Given the description of an element on the screen output the (x, y) to click on. 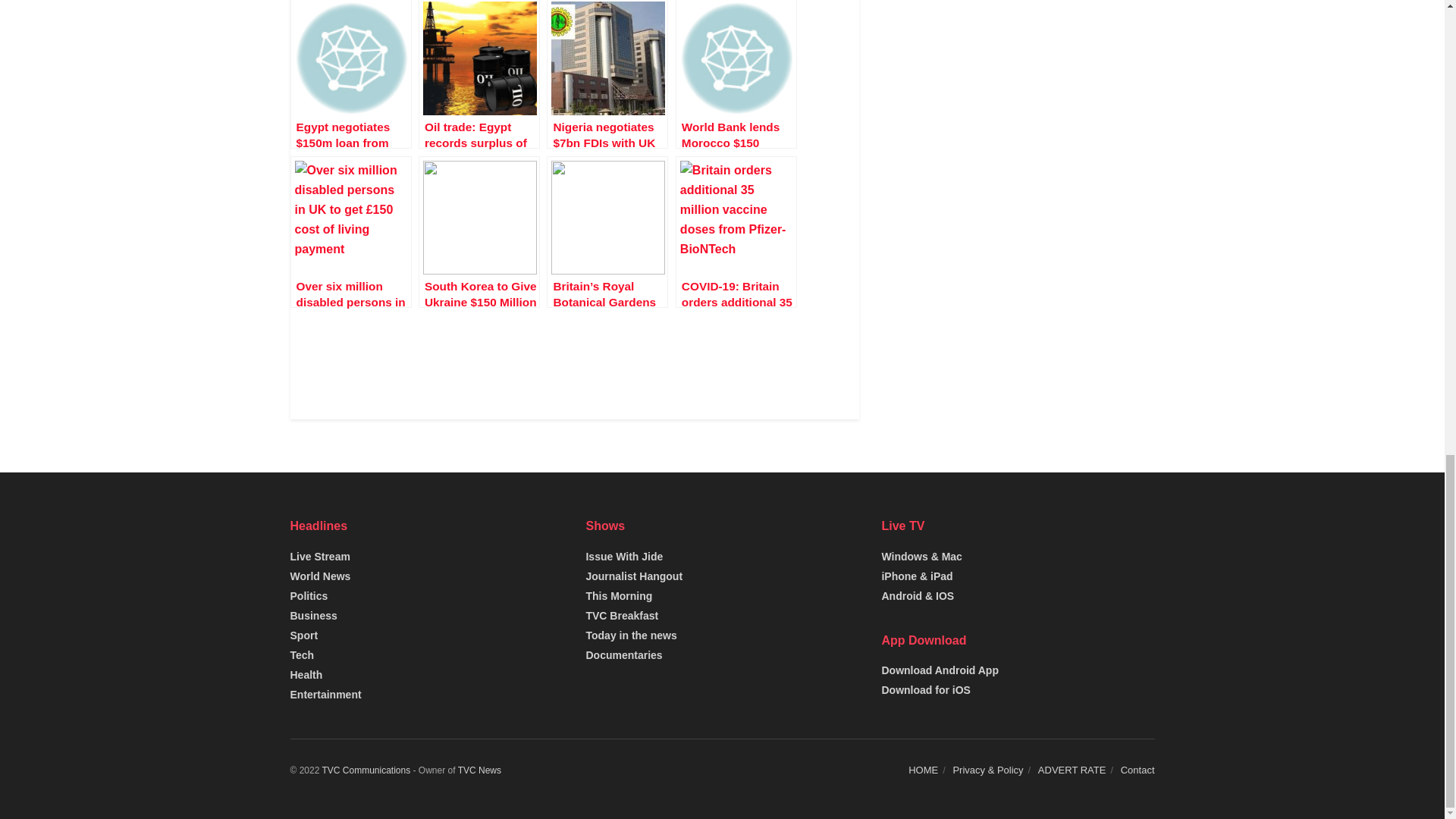
TVC News (479, 769)
